Given the description of an element on the screen output the (x, y) to click on. 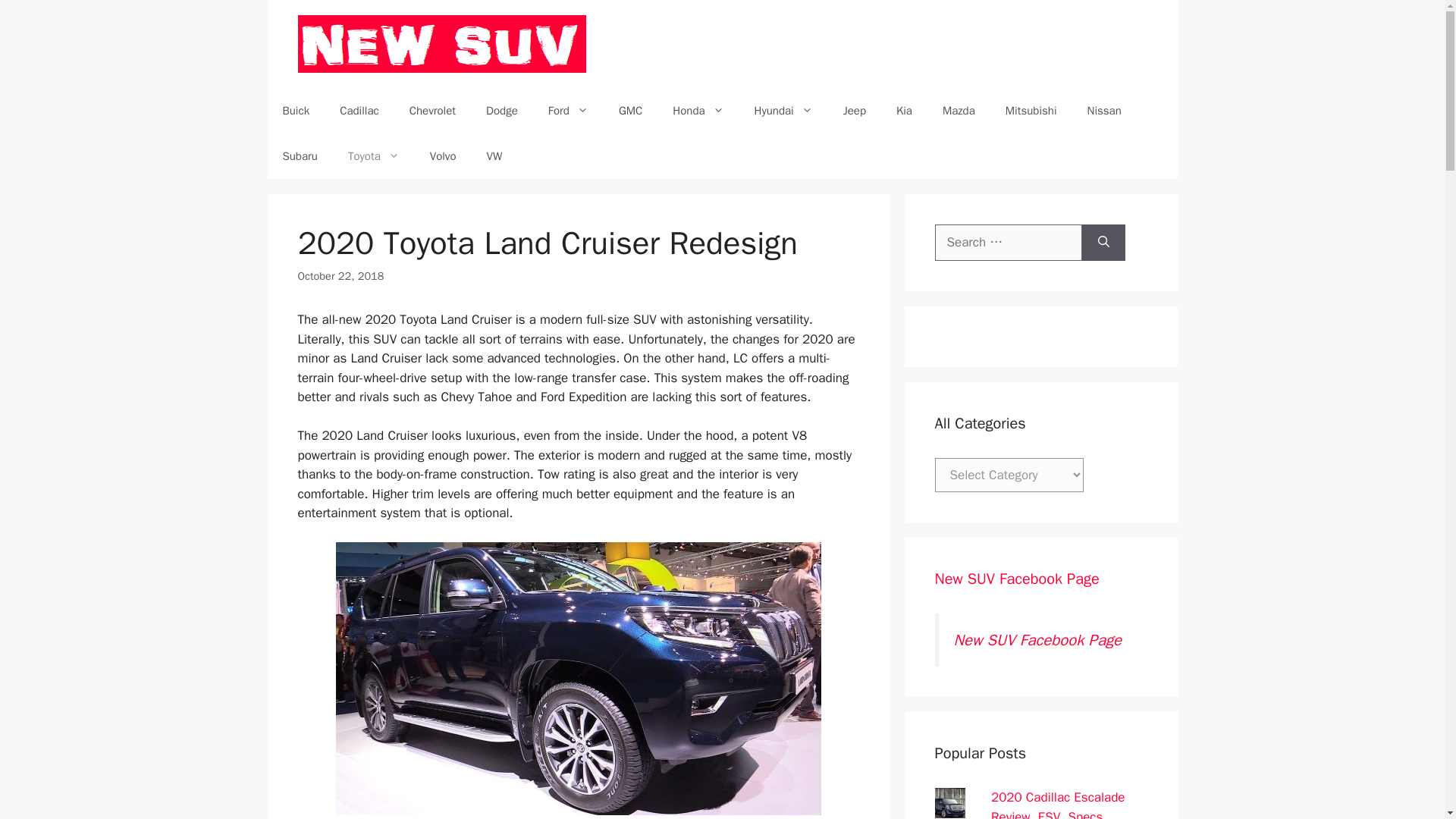
Cadillac (359, 110)
Jeep (854, 110)
VW (494, 156)
Ford (568, 110)
GMC (631, 110)
Kia (903, 110)
Mitsubishi (1030, 110)
Dodge (501, 110)
Mazda (958, 110)
Honda (698, 110)
Hyundai (783, 110)
Toyota (373, 156)
Subaru (298, 156)
Buick (295, 110)
Volvo (442, 156)
